Given the description of an element on the screen output the (x, y) to click on. 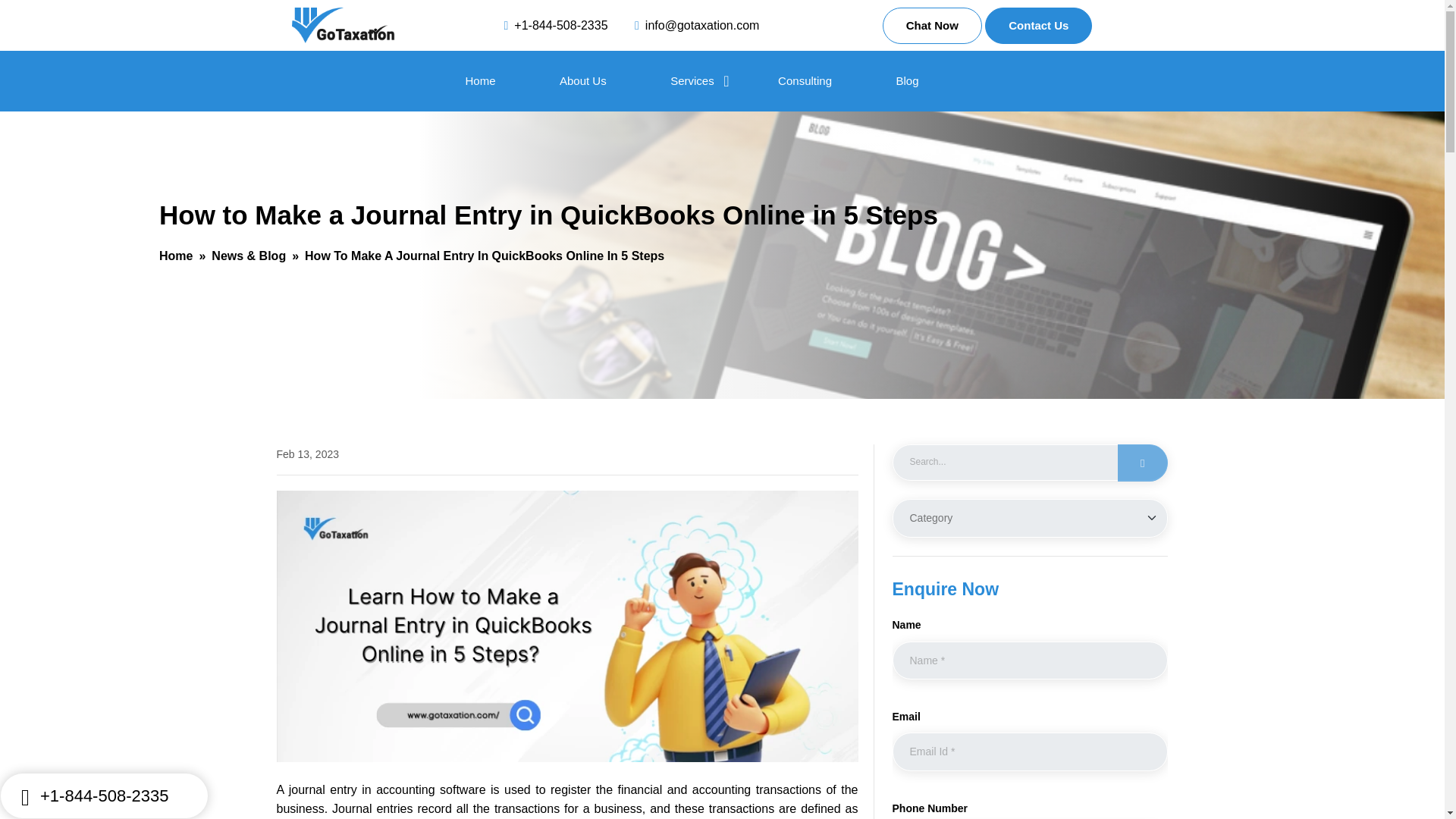
Contact Us (1038, 25)
Consulting (804, 80)
Services (691, 80)
Home (175, 255)
Blog (906, 80)
About Us (583, 80)
Home (480, 80)
Chat Now (931, 25)
